Given the description of an element on the screen output the (x, y) to click on. 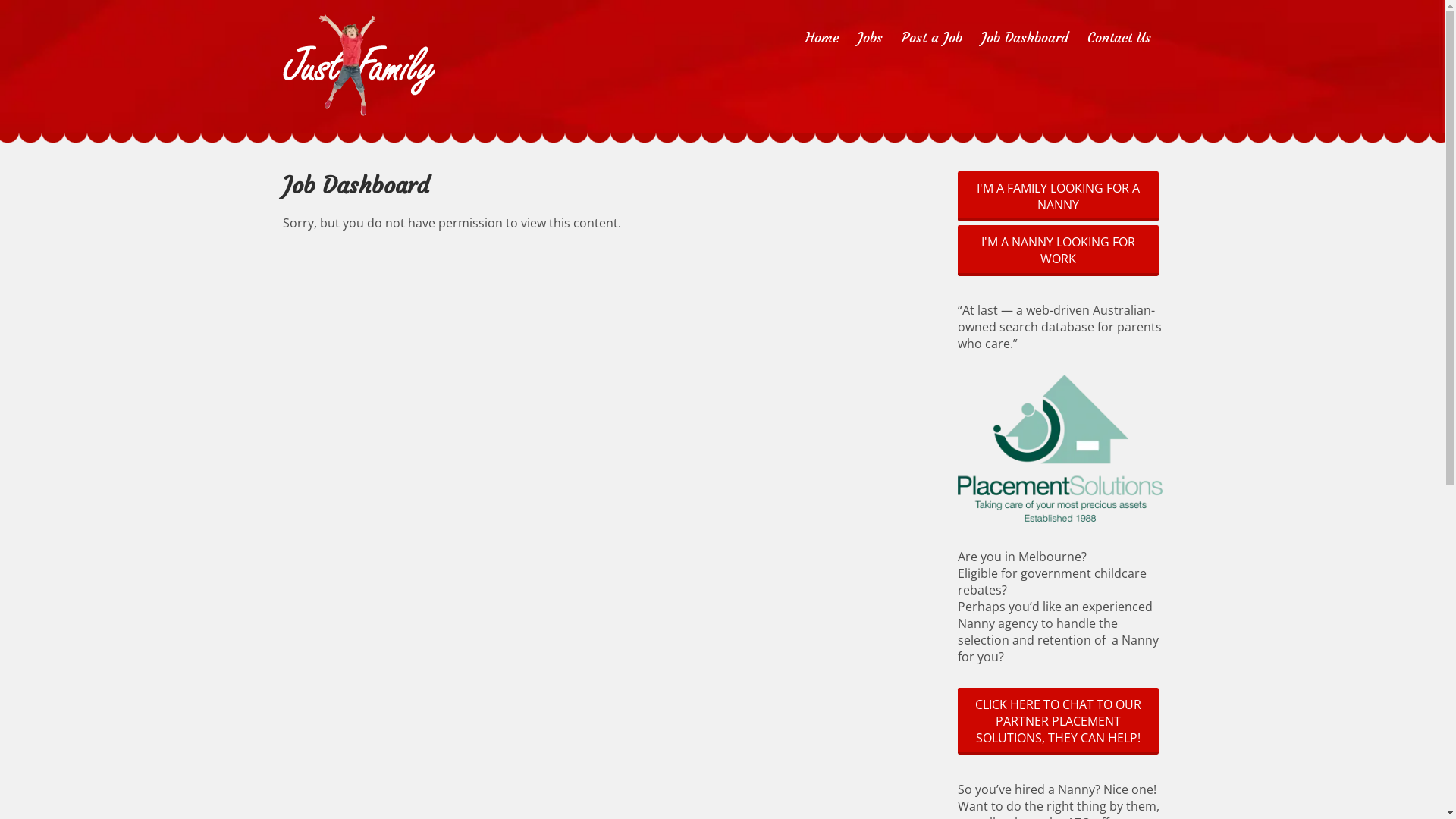
Contact Us Element type: text (1118, 37)
I'M A NANNY LOOKING FOR WORK Element type: text (1057, 250)
Just Family Element type: text (358, 138)
I'M A FAMILY LOOKING FOR A NANNY Element type: text (1057, 196)
Jobs Element type: text (869, 37)
Job Dashboard Element type: text (1024, 37)
Home Element type: text (821, 37)
Post a Job Element type: text (931, 37)
